Given the description of an element on the screen output the (x, y) to click on. 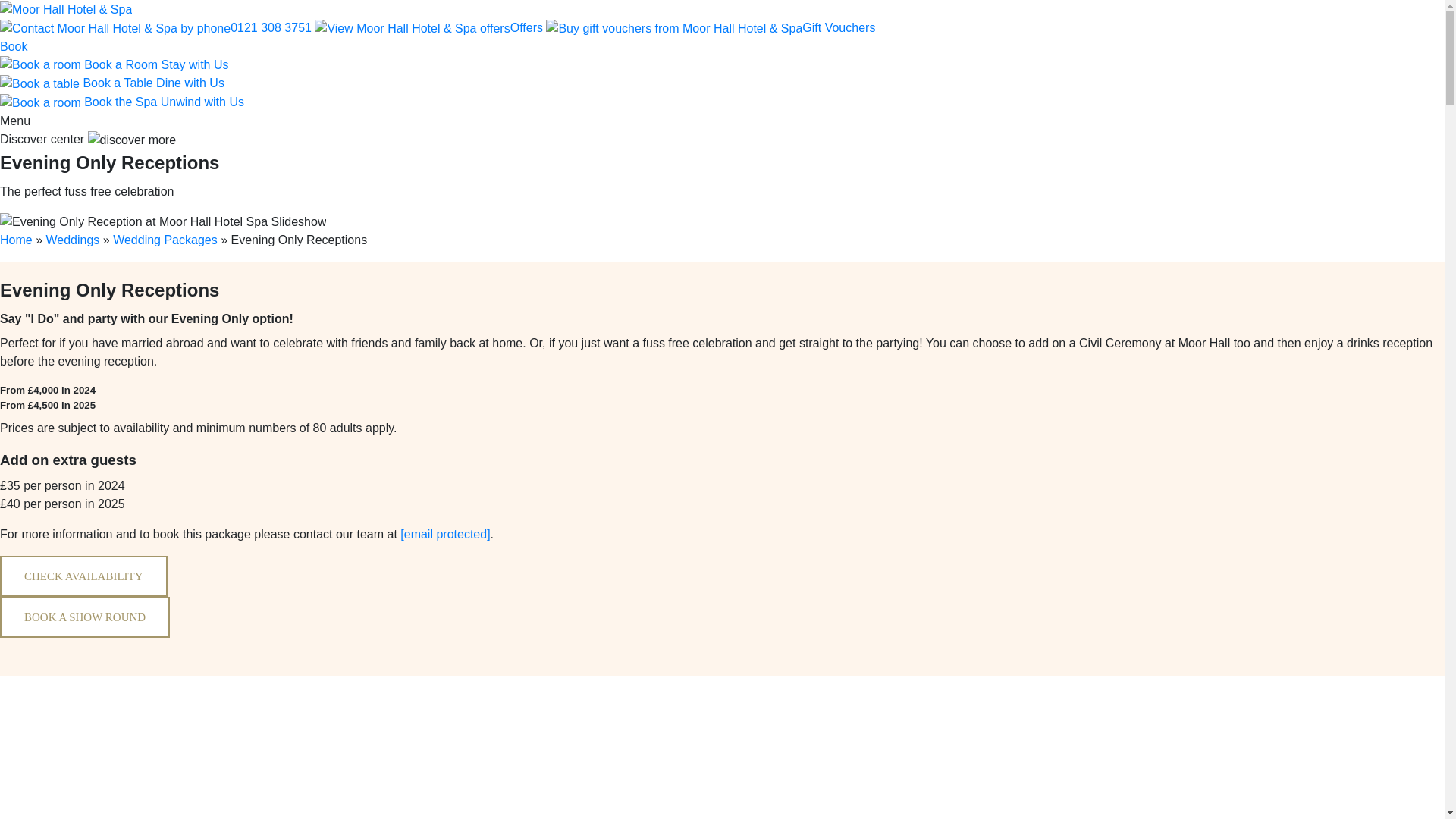
CHECK AVAILABILITY (83, 576)
Home (16, 239)
Gift Vouchers (838, 27)
Wedding Packages (167, 239)
Offers (527, 27)
BOOK A SHOW ROUND (85, 617)
Book (13, 46)
Book a Room Stay with Us (114, 64)
Weddings (73, 239)
Book the Spa Unwind with Us (122, 101)
Book a Table Dine with Us (112, 82)
0121 308 3751 (270, 27)
